Given the description of an element on the screen output the (x, y) to click on. 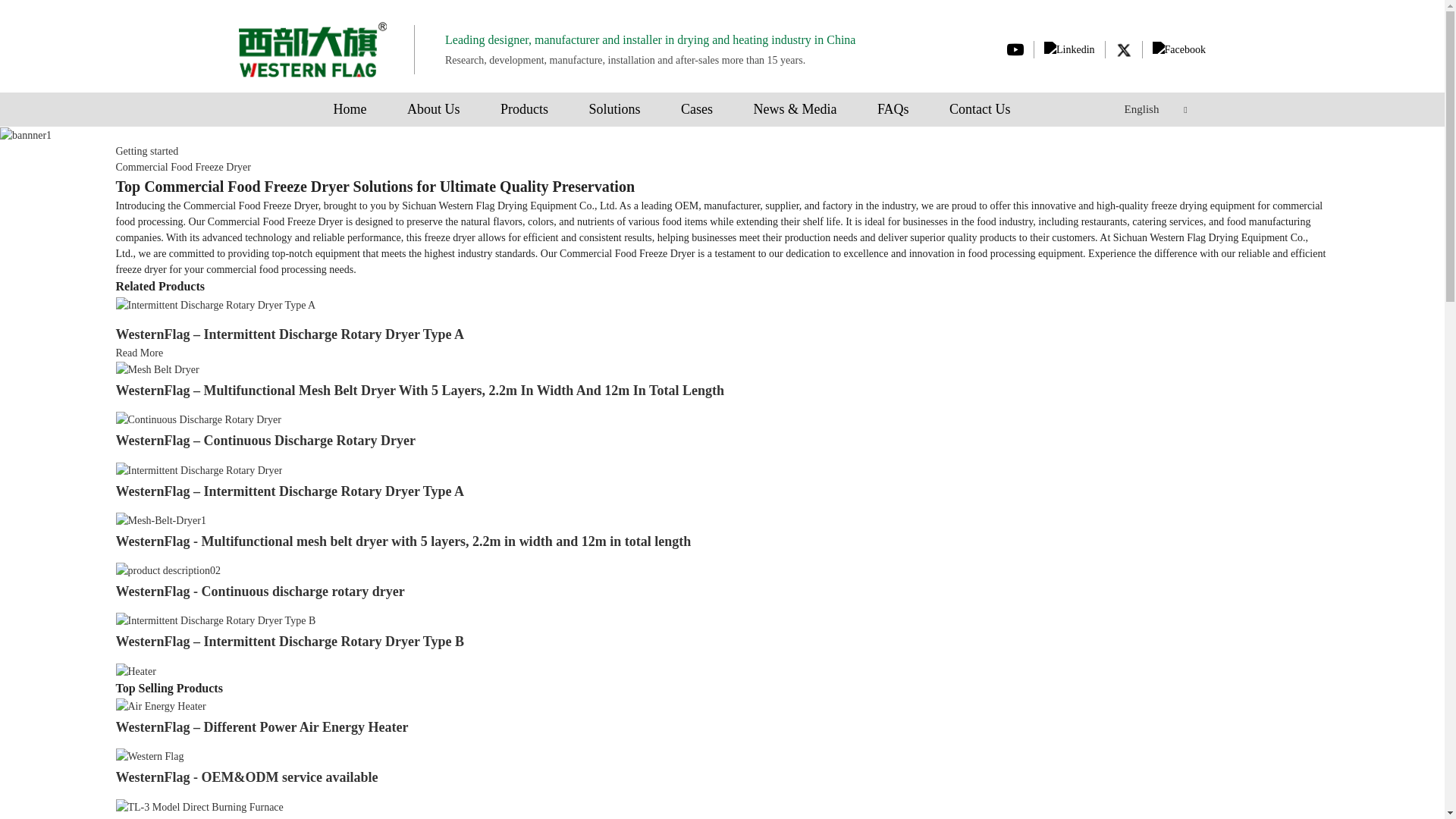
About Us (433, 109)
WesternFlag - Continuous discharge rotary dryer (259, 590)
WesternFlag - Continuous discharge rotary dryer (167, 569)
Home (349, 109)
Products (524, 109)
Solutions (614, 109)
